Given the description of an element on the screen output the (x, y) to click on. 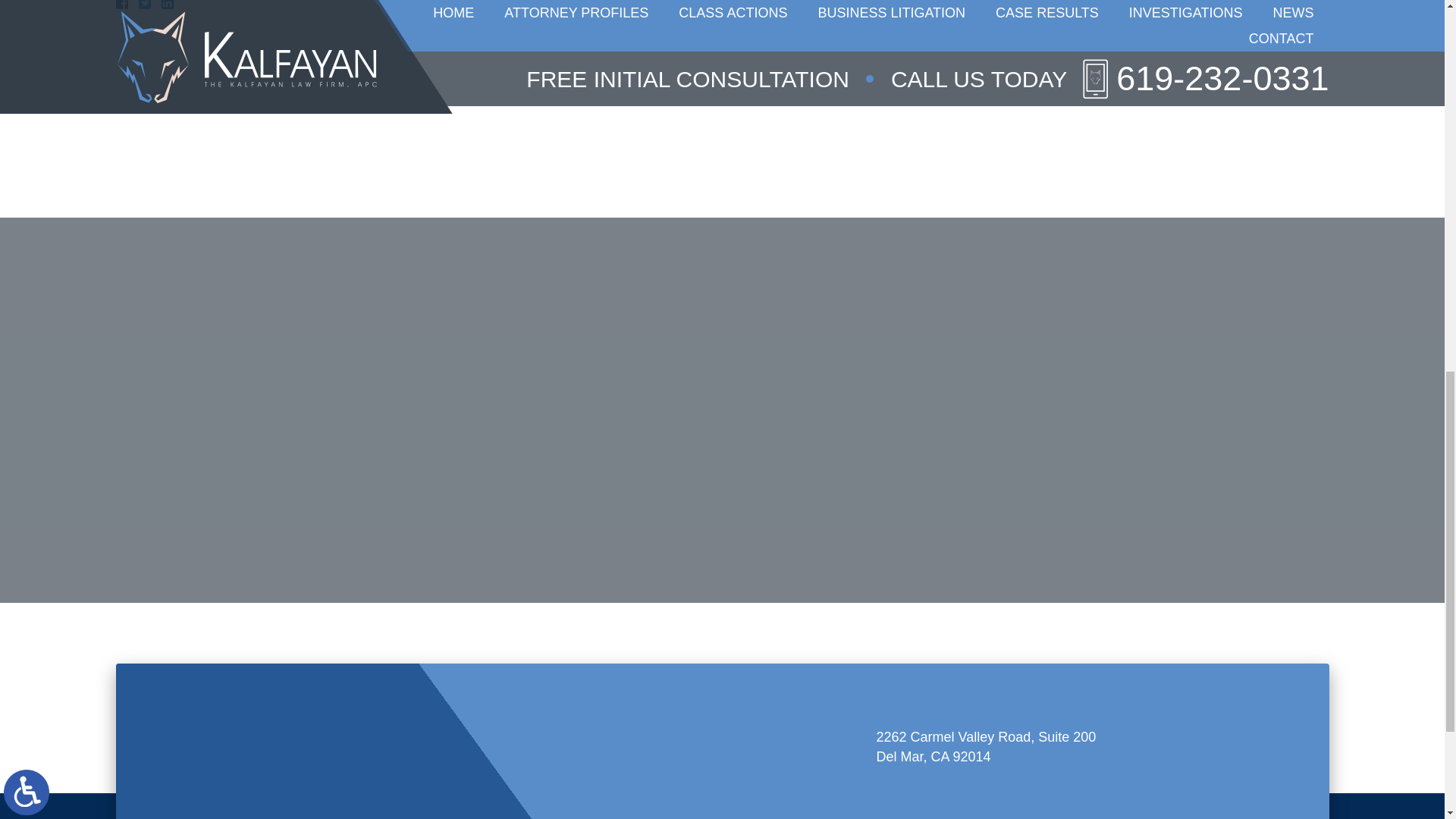
LinkedIn (160, 4)
Facebook (139, 4)
Twitter (149, 4)
